Given the description of an element on the screen output the (x, y) to click on. 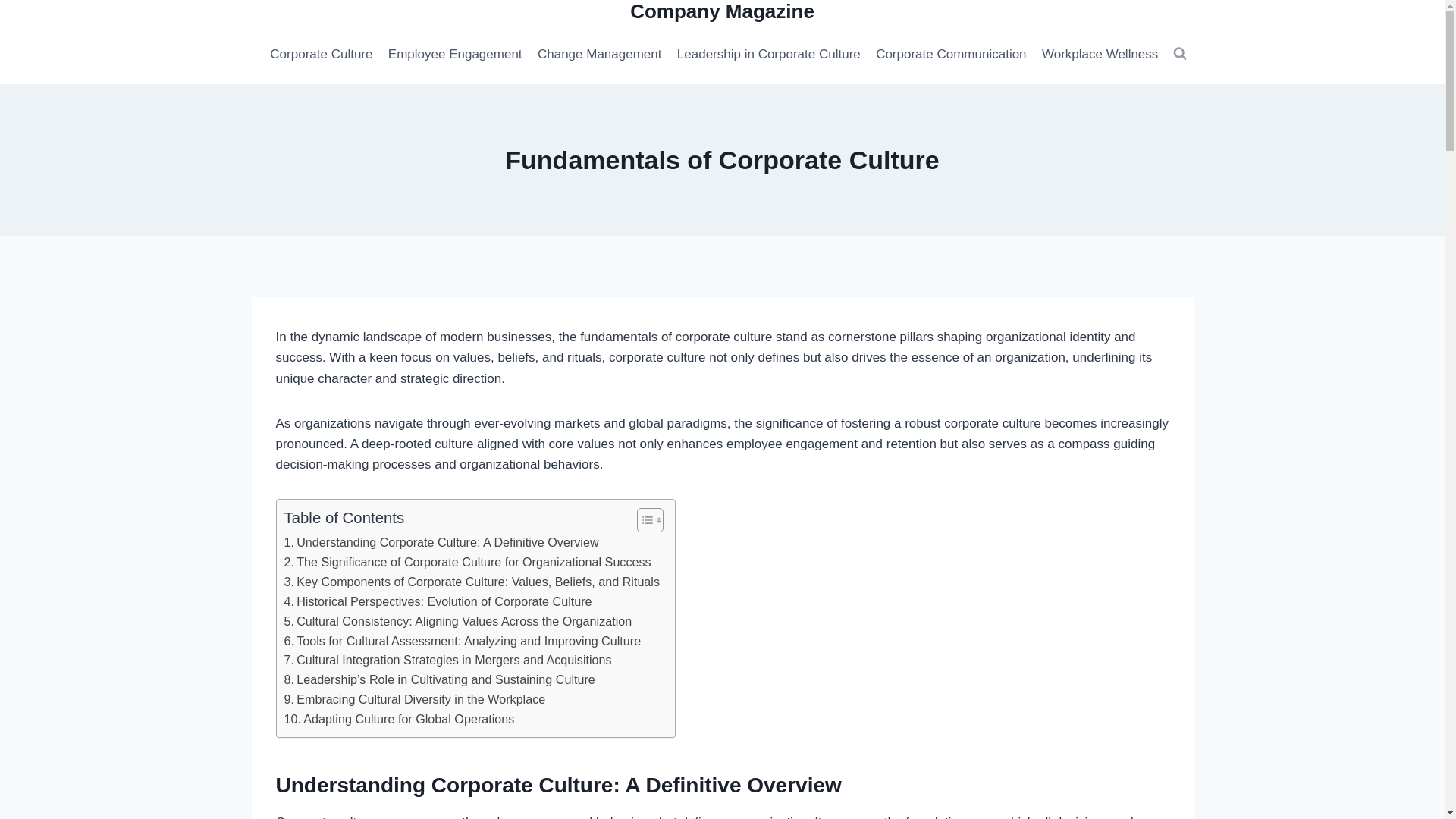
Historical Perspectives: Evolution of Corporate Culture (437, 601)
Adapting Culture for Global Operations (398, 719)
Embracing Cultural Diversity in the Workplace (413, 700)
Embracing Cultural Diversity in the Workplace (413, 700)
Corporate Culture (321, 54)
Workplace Wellness (1099, 54)
